Given the description of an element on the screen output the (x, y) to click on. 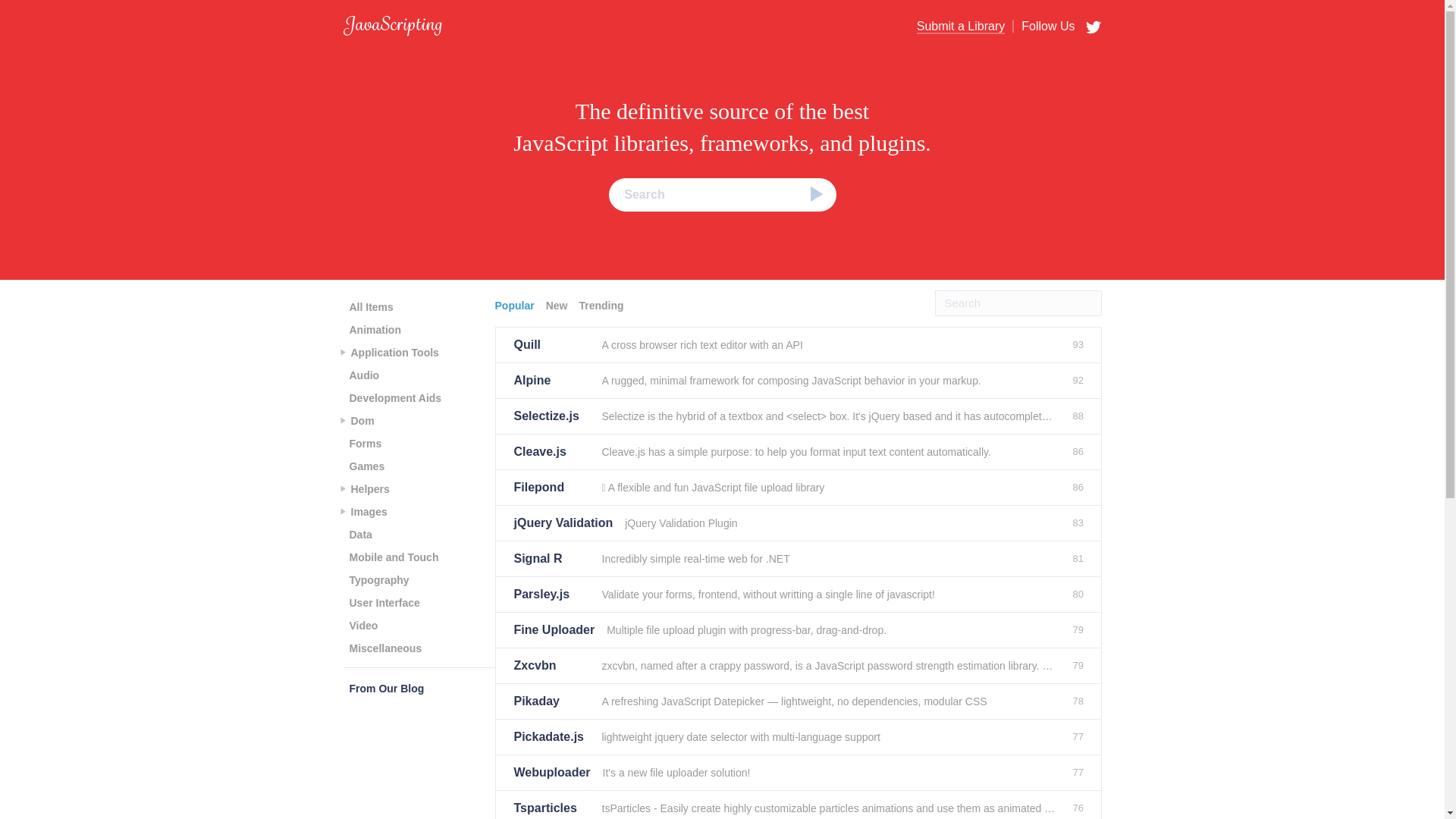
Mobile and Touch (393, 557)
Development Aids (394, 397)
Quill (551, 344)
Popular (516, 305)
Audio (363, 374)
Filepond (551, 487)
Submit a Library (961, 26)
User Interface (383, 602)
Video (363, 625)
Selectize.js (551, 416)
Cleave.js (551, 451)
Data (359, 534)
Typography (378, 579)
Alpine (551, 380)
All Items (370, 306)
